Given the description of an element on the screen output the (x, y) to click on. 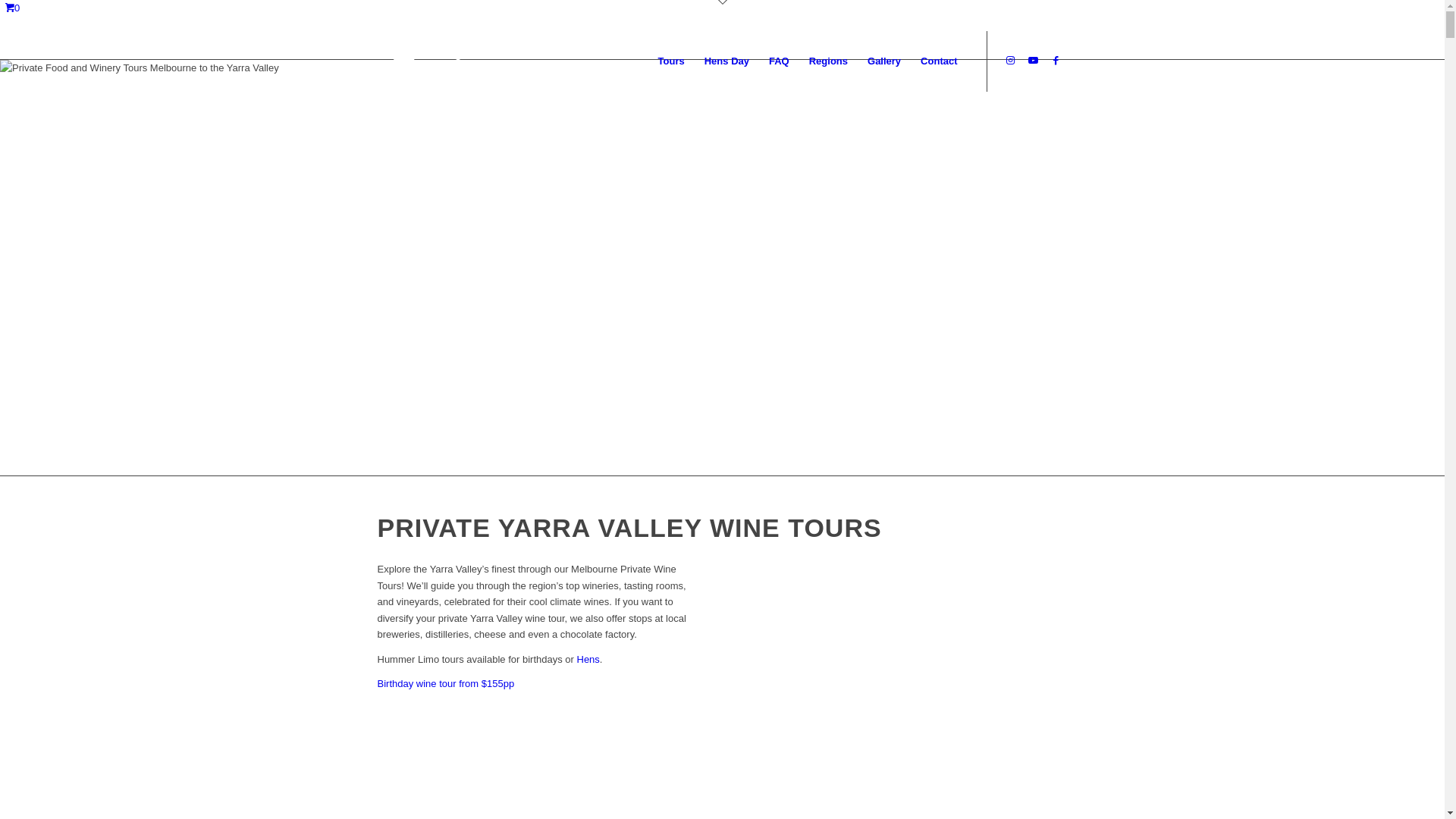
Instagram Element type: hover (1010, 60)
melbourne-kangaroo-wine-tours Element type: hover (437, 61)
0 Element type: text (12, 7)
FAQ Element type: text (779, 61)
Youtube Element type: hover (1033, 60)
Hens Element type: text (587, 659)
Birthday wine tour from $155pp Element type: text (445, 683)
Private Food and Winery Tours Melbourne to the Yarra Valley Element type: hover (546, 267)
Facebook Element type: hover (1055, 60)
Gallery Element type: text (883, 61)
Contact Element type: text (938, 61)
Regions Element type: text (828, 61)
Tours Element type: text (671, 61)
Hens Day Element type: text (726, 61)
